Given the description of an element on the screen output the (x, y) to click on. 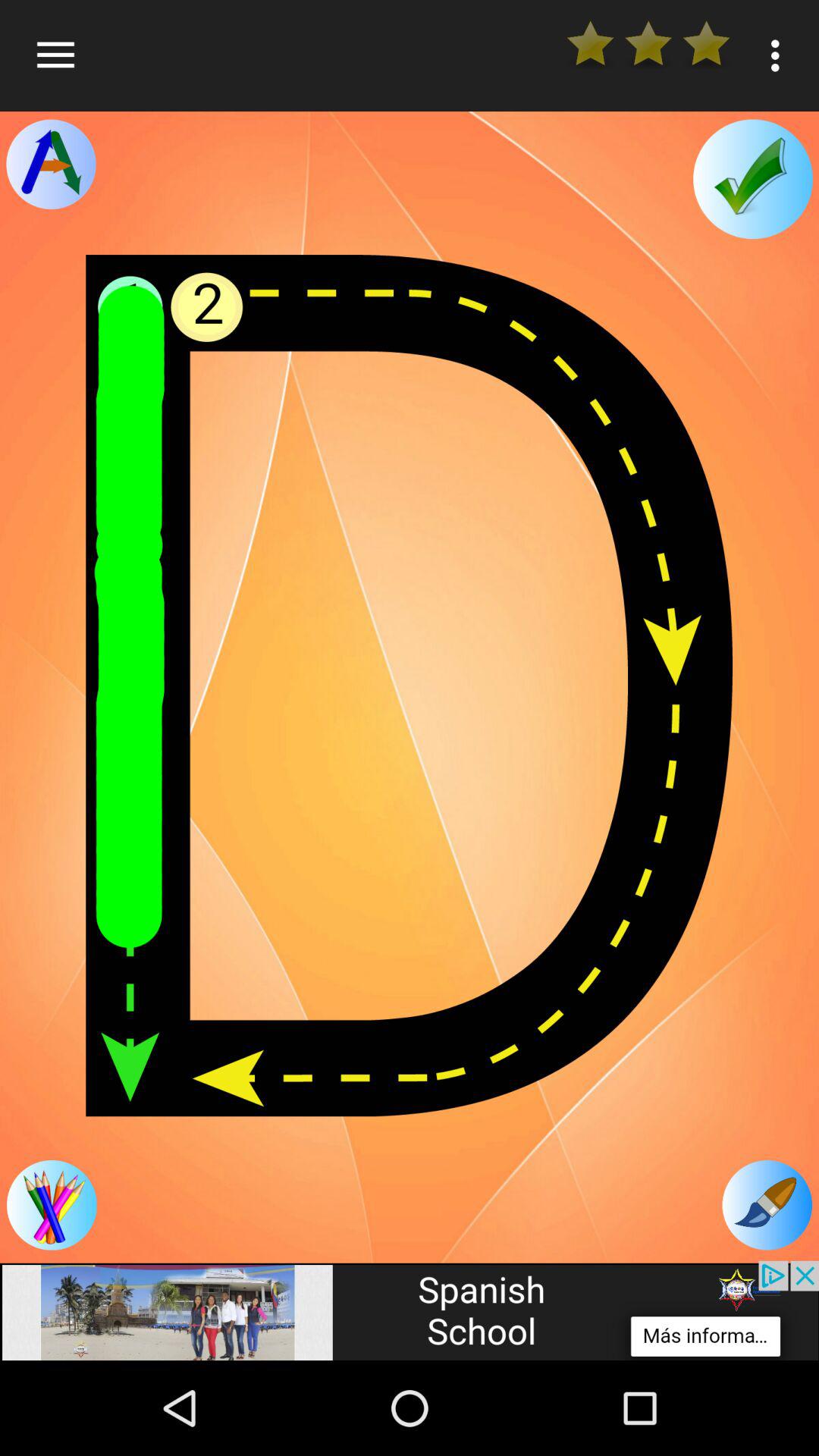
tool choice (51, 164)
